Given the description of an element on the screen output the (x, y) to click on. 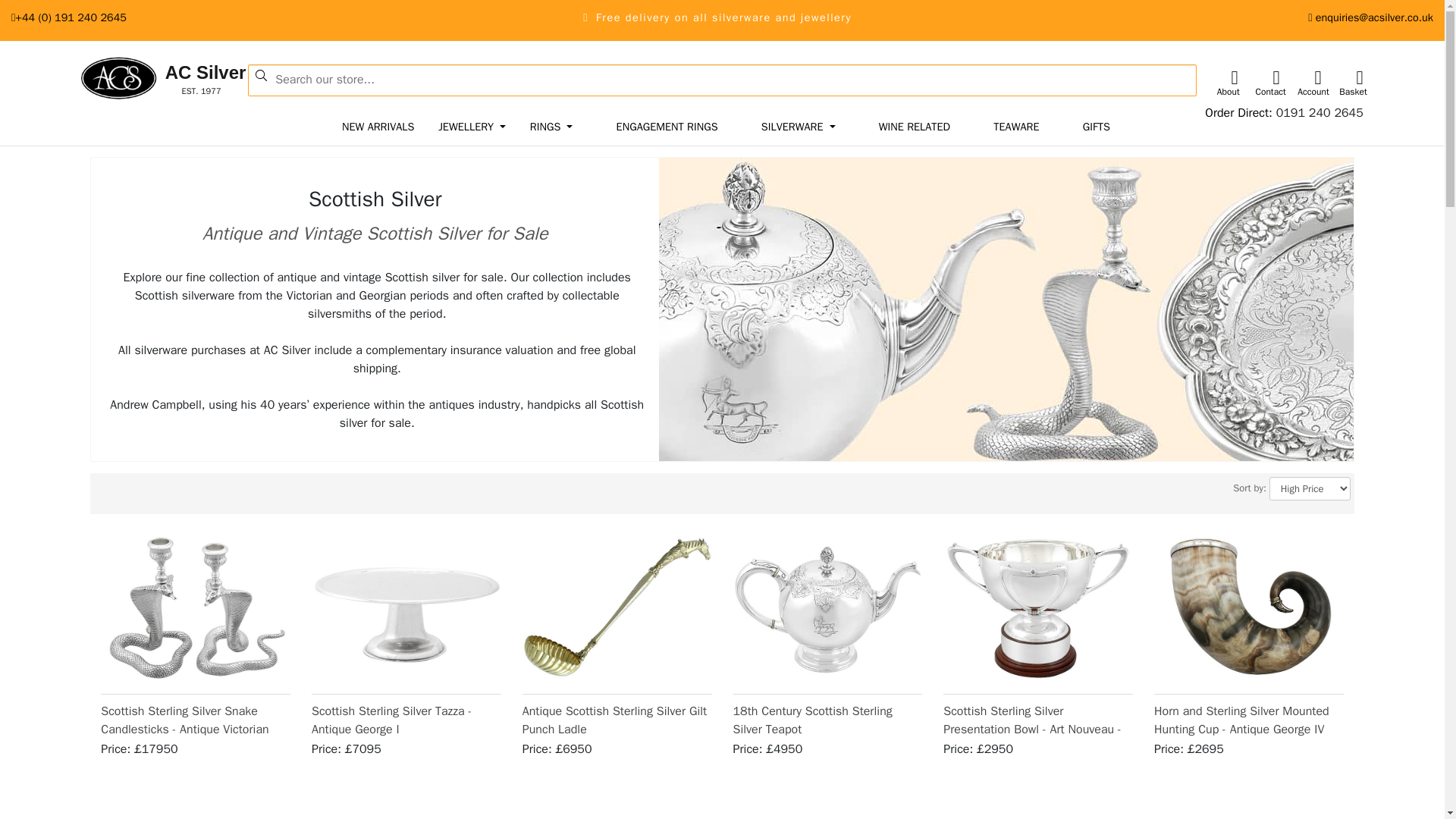
RINGS (135, 78)
NEW ARRIVALS (551, 126)
0191 240 2645 (378, 126)
JEWELLERY (1319, 112)
